Given the description of an element on the screen output the (x, y) to click on. 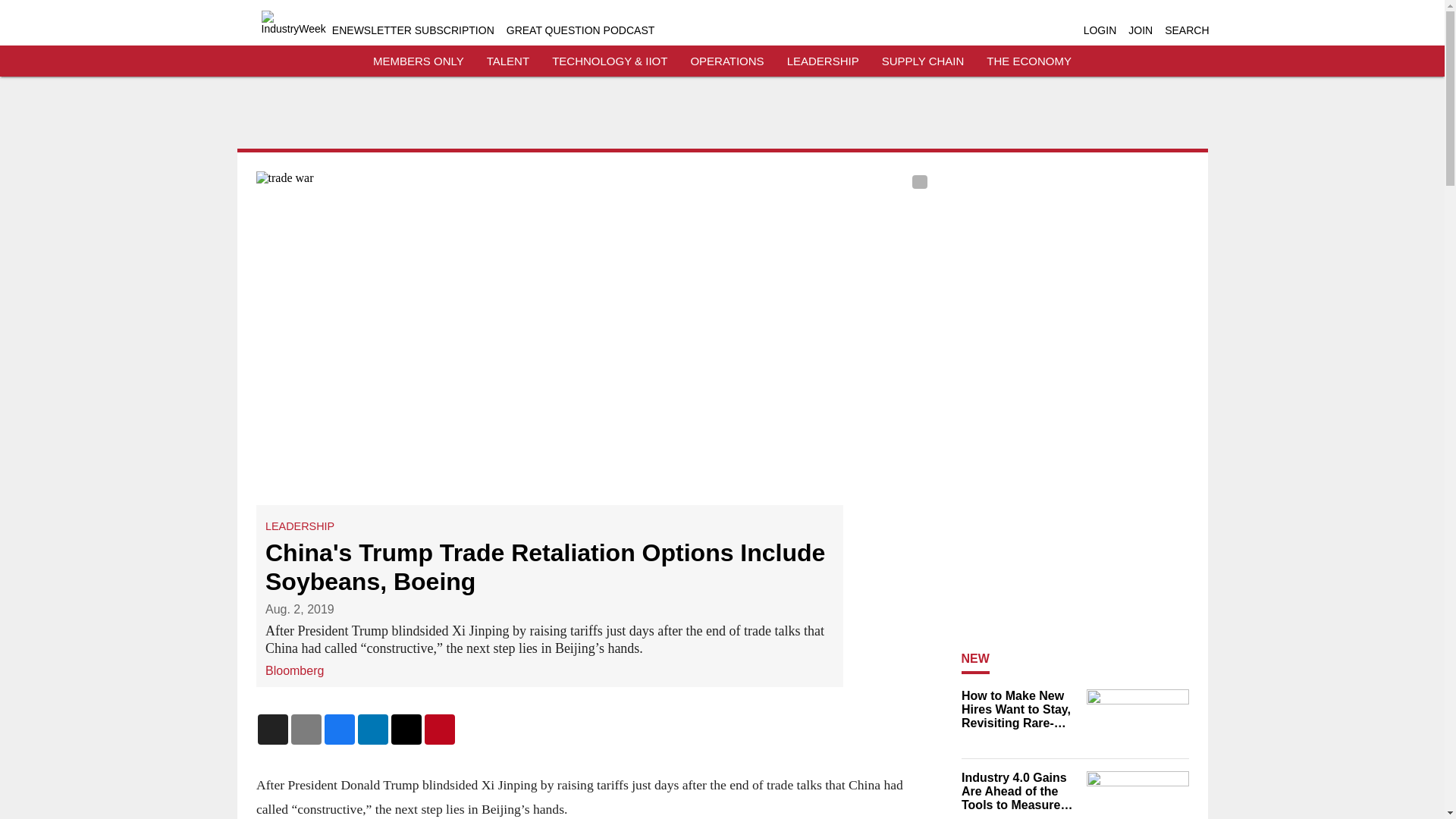
THE ECONOMY (1029, 60)
OPERATIONS (726, 60)
LOGIN (1099, 30)
LEADERSHIP (299, 526)
TALENT (507, 60)
JOIN (1140, 30)
ENEWSLETTER SUBSCRIPTION (413, 30)
SEARCH (1186, 30)
GREAT QUESTION PODCAST (580, 30)
MEMBERS ONLY (418, 60)
LEADERSHIP (823, 60)
SUPPLY CHAIN (922, 60)
